Given the description of an element on the screen output the (x, y) to click on. 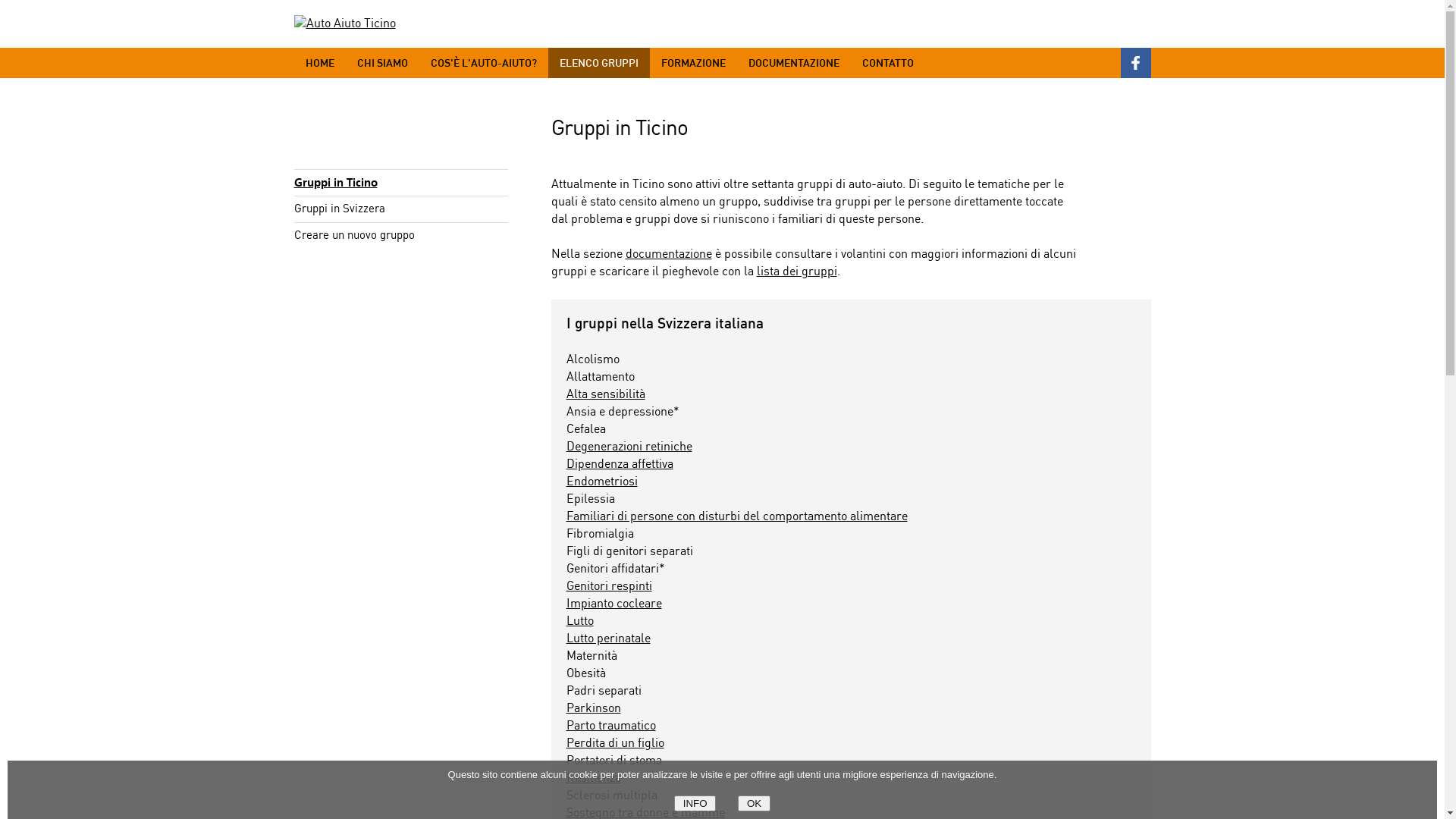
DOCUMENTAZIONE Element type: text (793, 62)
Impianto cocleare Element type: text (613, 603)
Parto traumatico Element type: text (610, 725)
Parkinson Element type: text (592, 708)
 OK  Element type: text (753, 803)
ELENCO GRUPPI Element type: text (598, 62)
FORMAZIONE Element type: text (692, 62)
Creare un nuovo gruppo Element type: text (354, 235)
CHI SIAMO Element type: text (382, 62)
Perdita di un figlio Element type: text (614, 743)
Seguici su Facebook! Element type: hover (1135, 62)
lista dei gruppi Element type: text (796, 271)
Gruppi in Svizzera Element type: text (339, 209)
Degenerazioni retiniche Element type: text (628, 446)
CONTATTO Element type: text (887, 62)
 INFO  Element type: text (694, 803)
Lutto perinatale Element type: text (607, 638)
Gruppi in Ticino Element type: text (335, 182)
Dipendenza affettiva Element type: text (618, 464)
Genitori respinti Element type: text (608, 586)
Resilienza Element type: text (592, 777)
documentazione Element type: text (667, 253)
Endometriosi Element type: text (601, 481)
HOME Element type: text (319, 62)
Lutto Element type: text (579, 621)
